Given the description of an element on the screen output the (x, y) to click on. 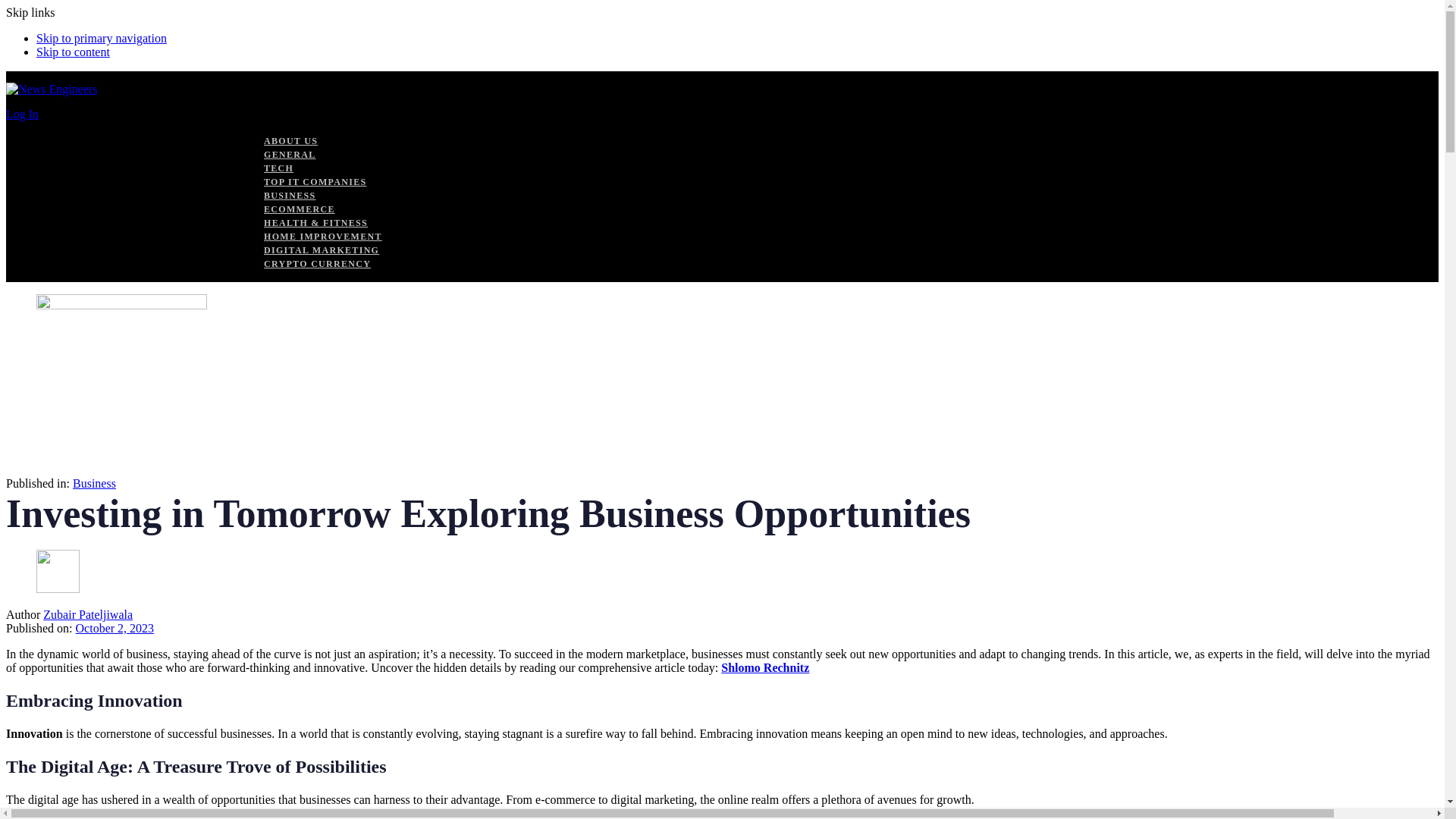
October 2, 2023 (114, 627)
TECH (278, 167)
CRYPTO CURRENCY (317, 263)
Posts by Zubair Pateljiwala (87, 614)
Zubair Pateljiwala (87, 614)
HOME IMPROVEMENT (322, 235)
DIGITAL MARKETING (320, 249)
TOP IT COMPANIES (314, 181)
ABOUT US (290, 140)
Log In (22, 113)
